Given the description of an element on the screen output the (x, y) to click on. 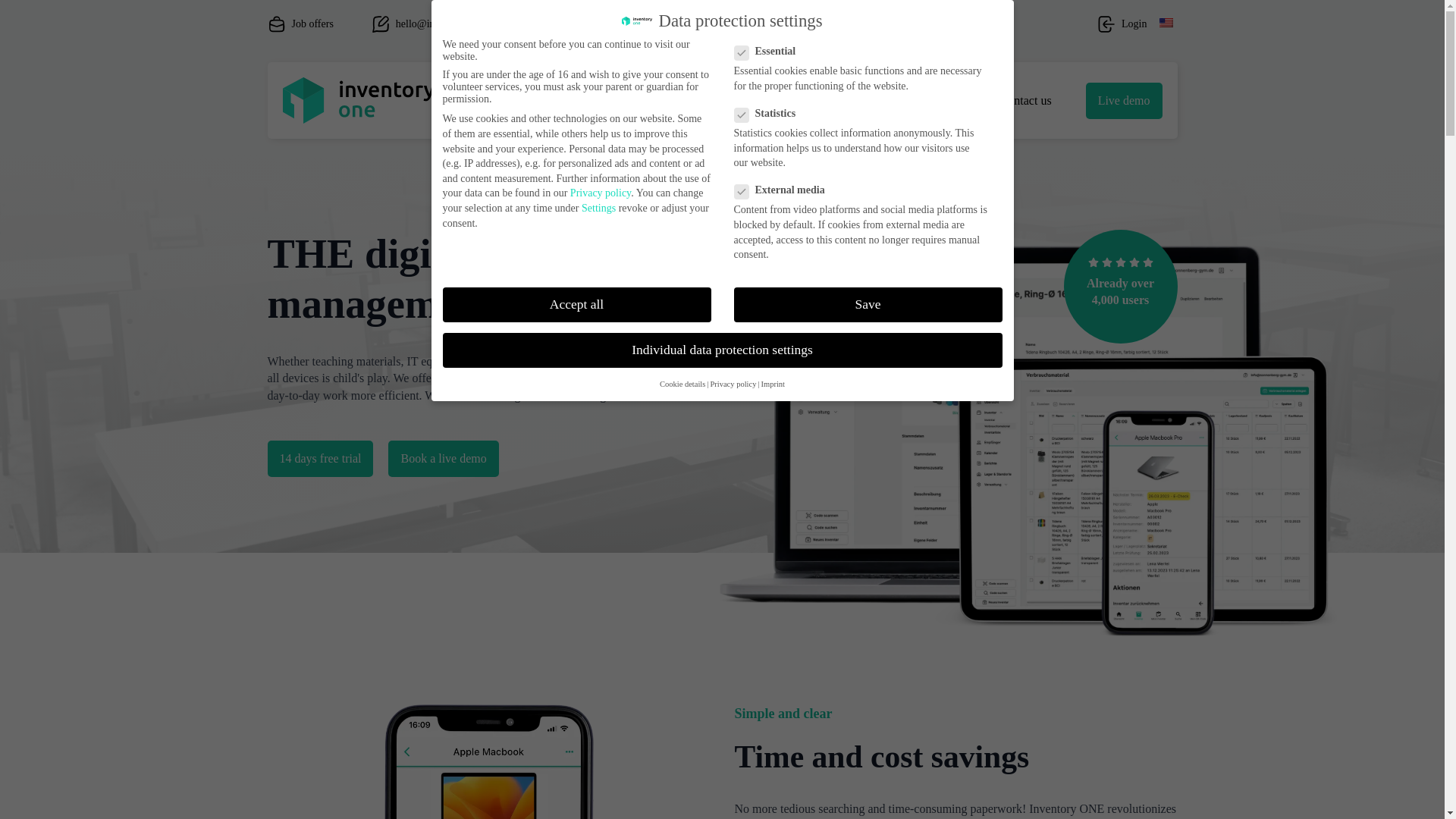
Login (1122, 24)
Functions (595, 100)
About us (880, 100)
Blog (962, 100)
14 days free trial (319, 458)
07161 62 71 30 (590, 24)
Job offers (299, 24)
Live demo (1123, 100)
QR codes (726, 100)
Contact us (1025, 100)
Prices (660, 100)
English (1165, 22)
Industries (795, 100)
Book a live demo (442, 458)
English (1164, 23)
